Given the description of an element on the screen output the (x, y) to click on. 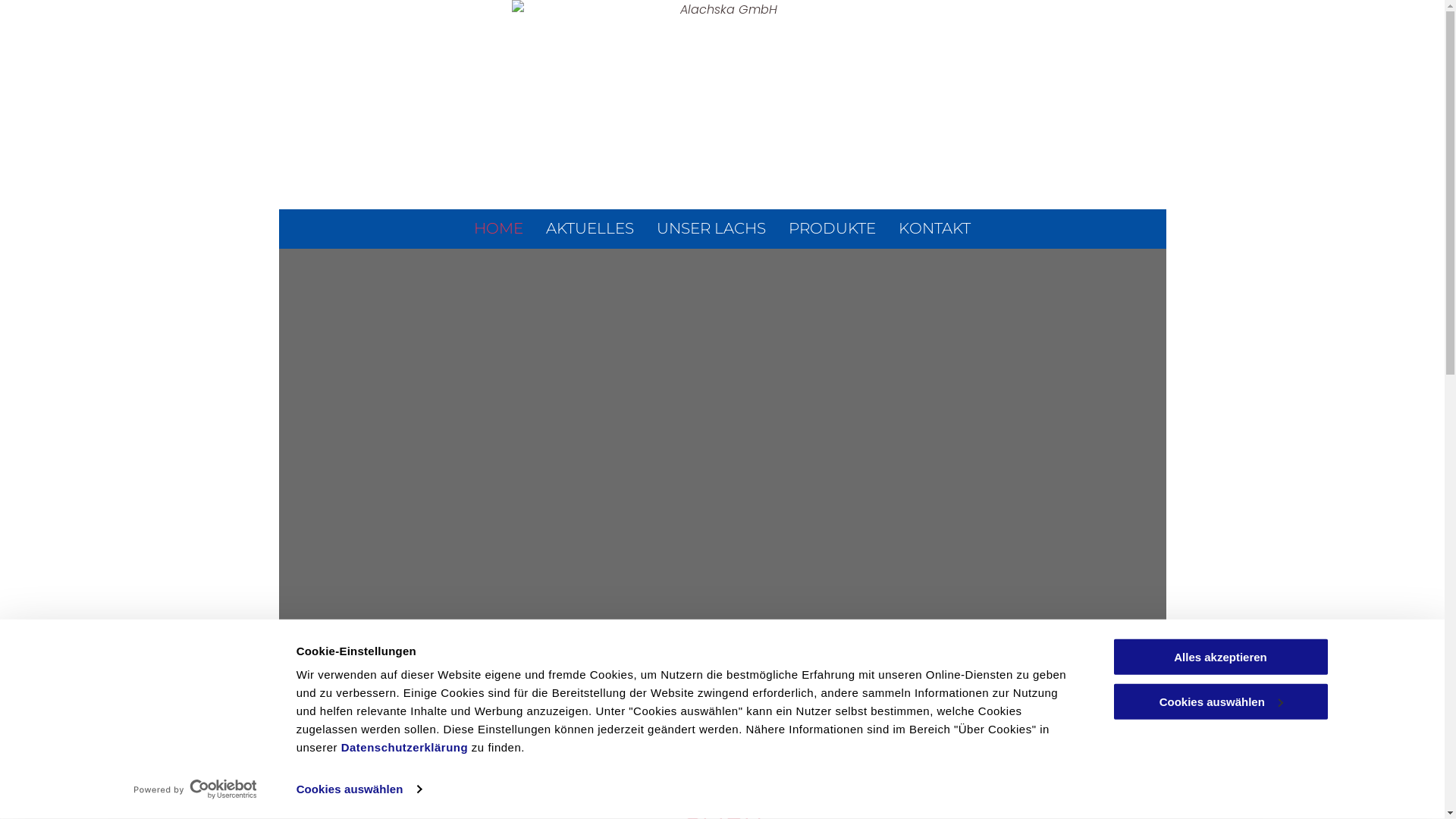
PRODUKTE Element type: text (832, 228)
Alles akzeptieren Element type: text (1219, 656)
KONTAKT Element type: text (934, 228)
AKTUELLES Element type: text (589, 228)
UNSER LACHS Element type: text (711, 228)
HOME Element type: text (498, 228)
